Given the description of an element on the screen output the (x, y) to click on. 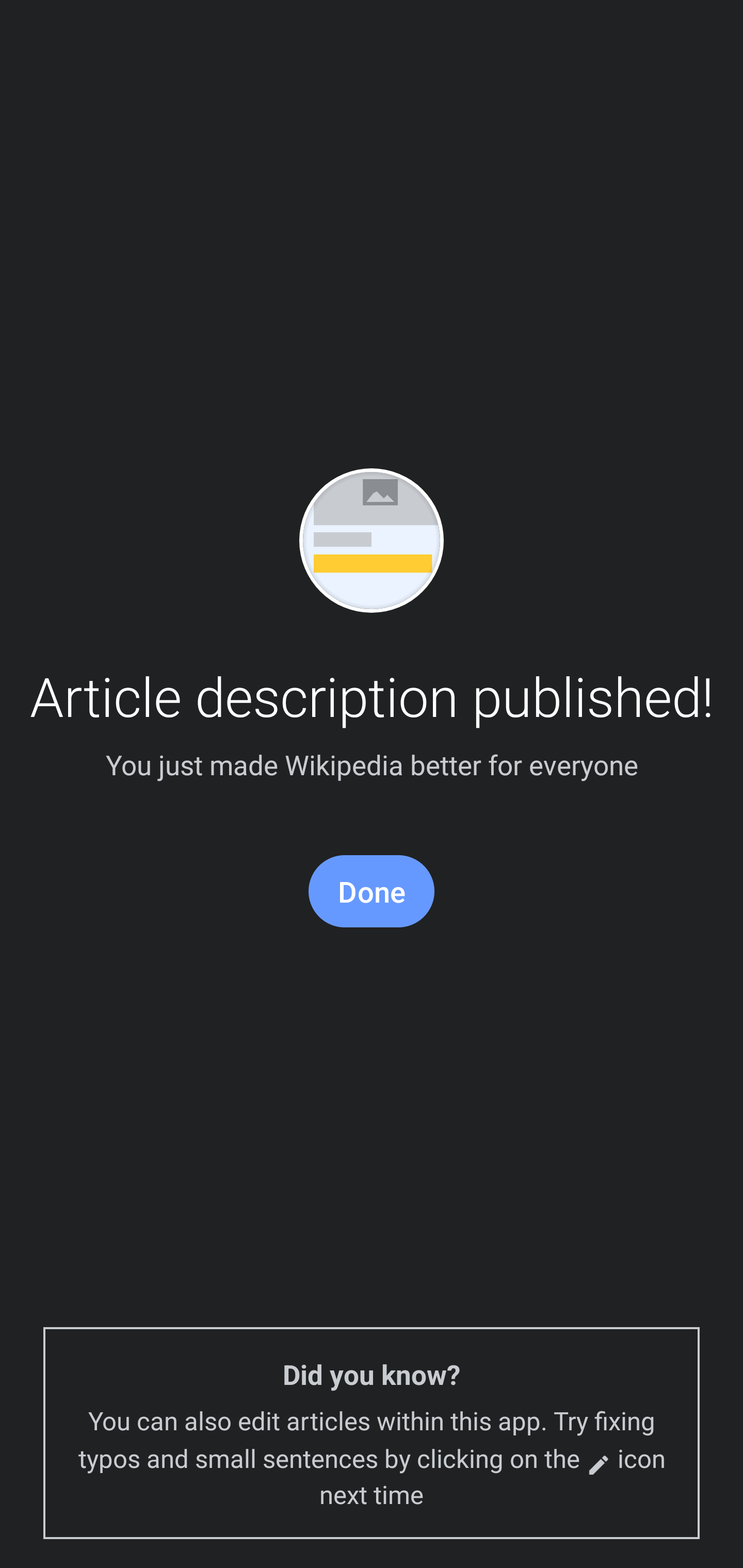
Done (371, 891)
